Given the description of an element on the screen output the (x, y) to click on. 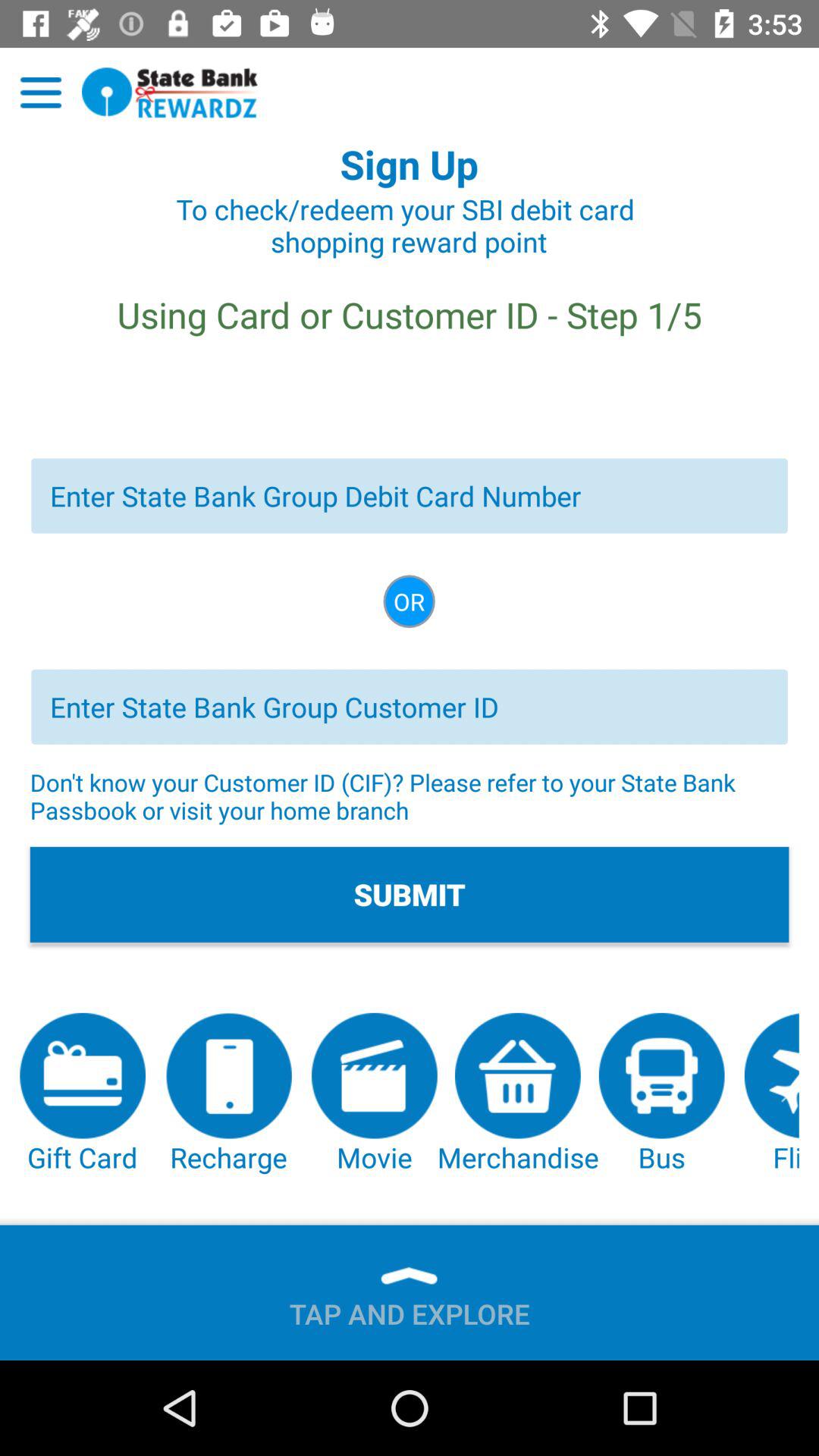
turn on the icon next to flight (661, 1094)
